Given the description of an element on the screen output the (x, y) to click on. 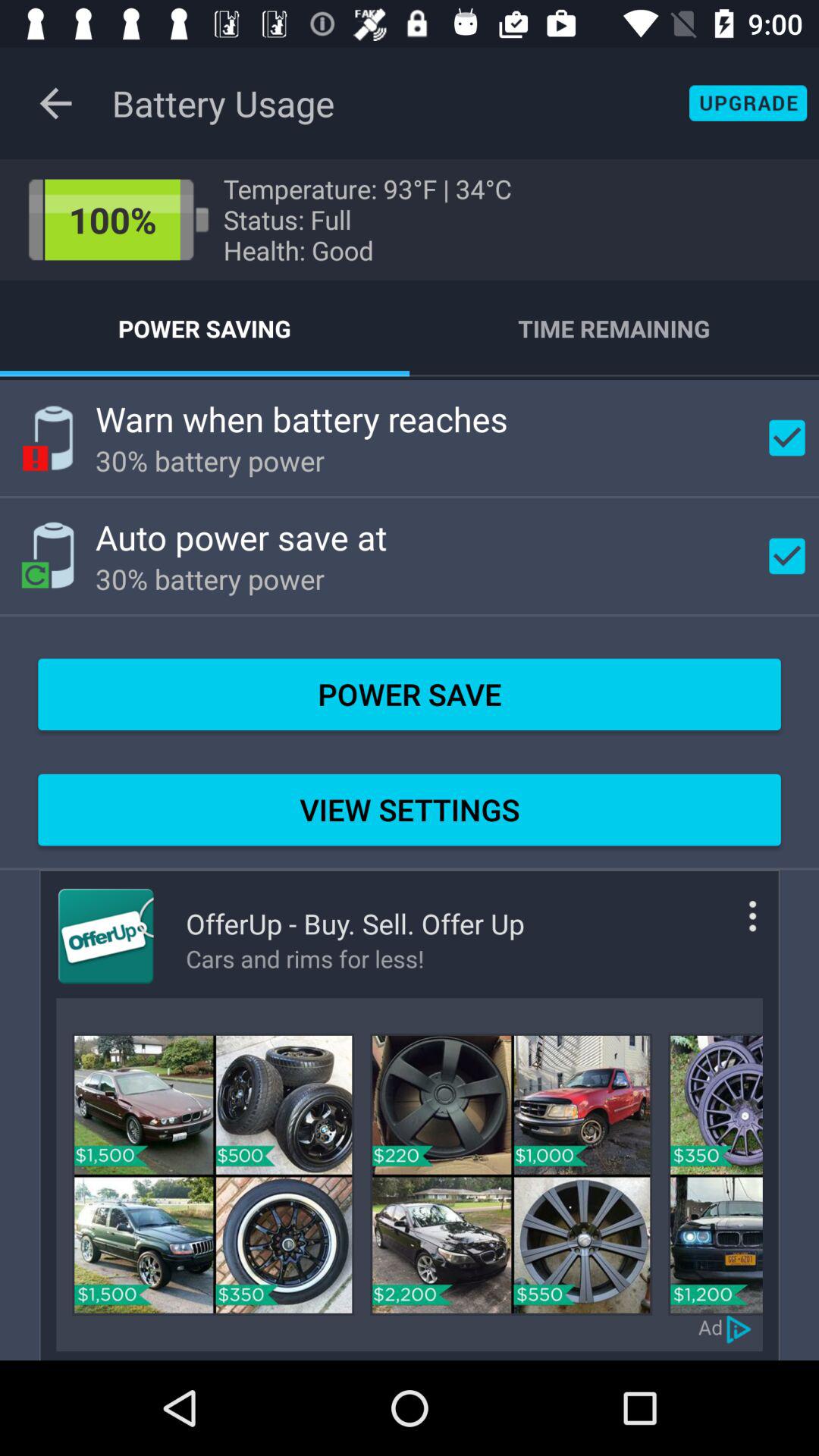
offerup (105, 936)
